Given the description of an element on the screen output the (x, y) to click on. 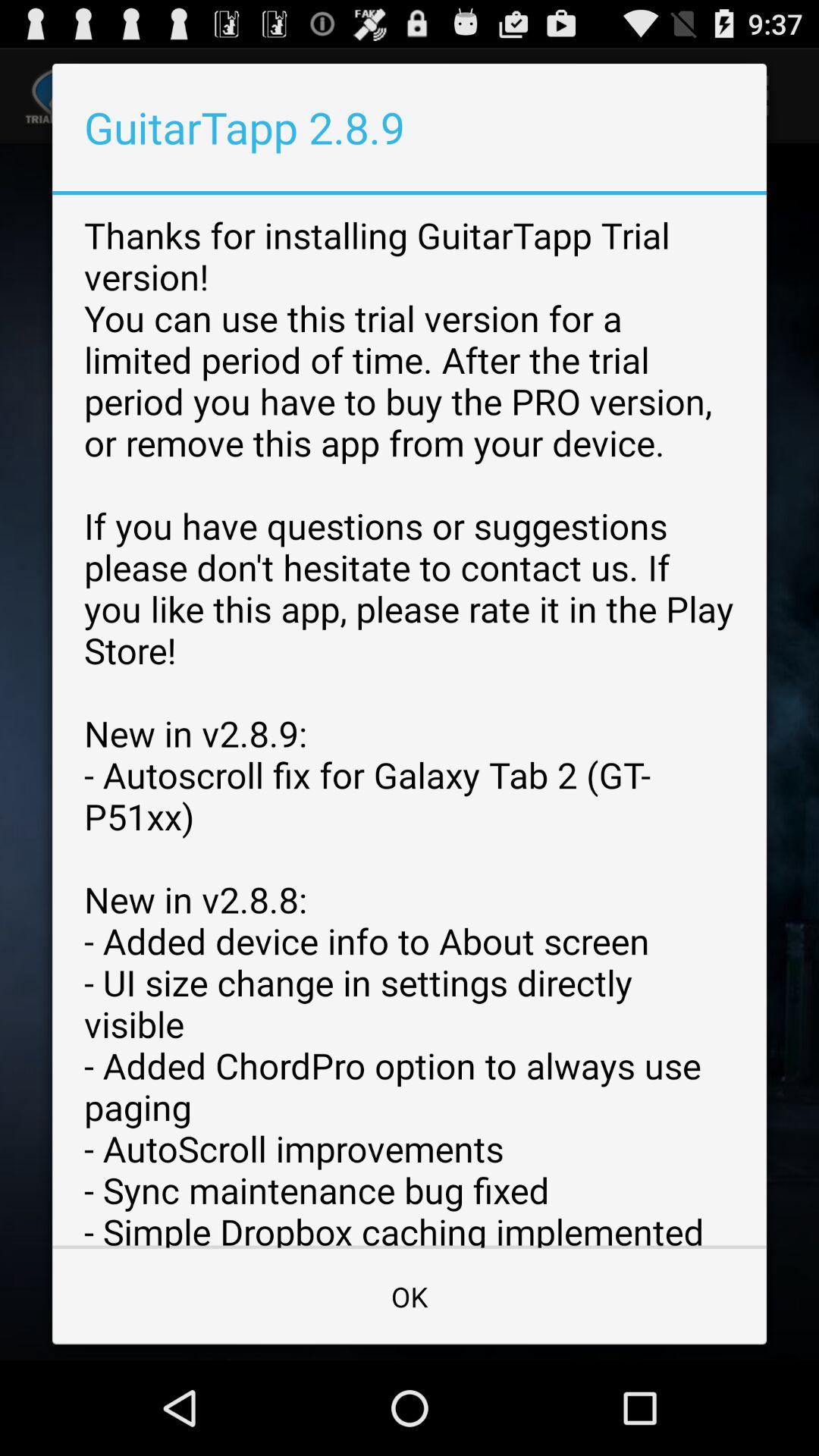
jump until the ok item (409, 1296)
